Given the description of an element on the screen output the (x, y) to click on. 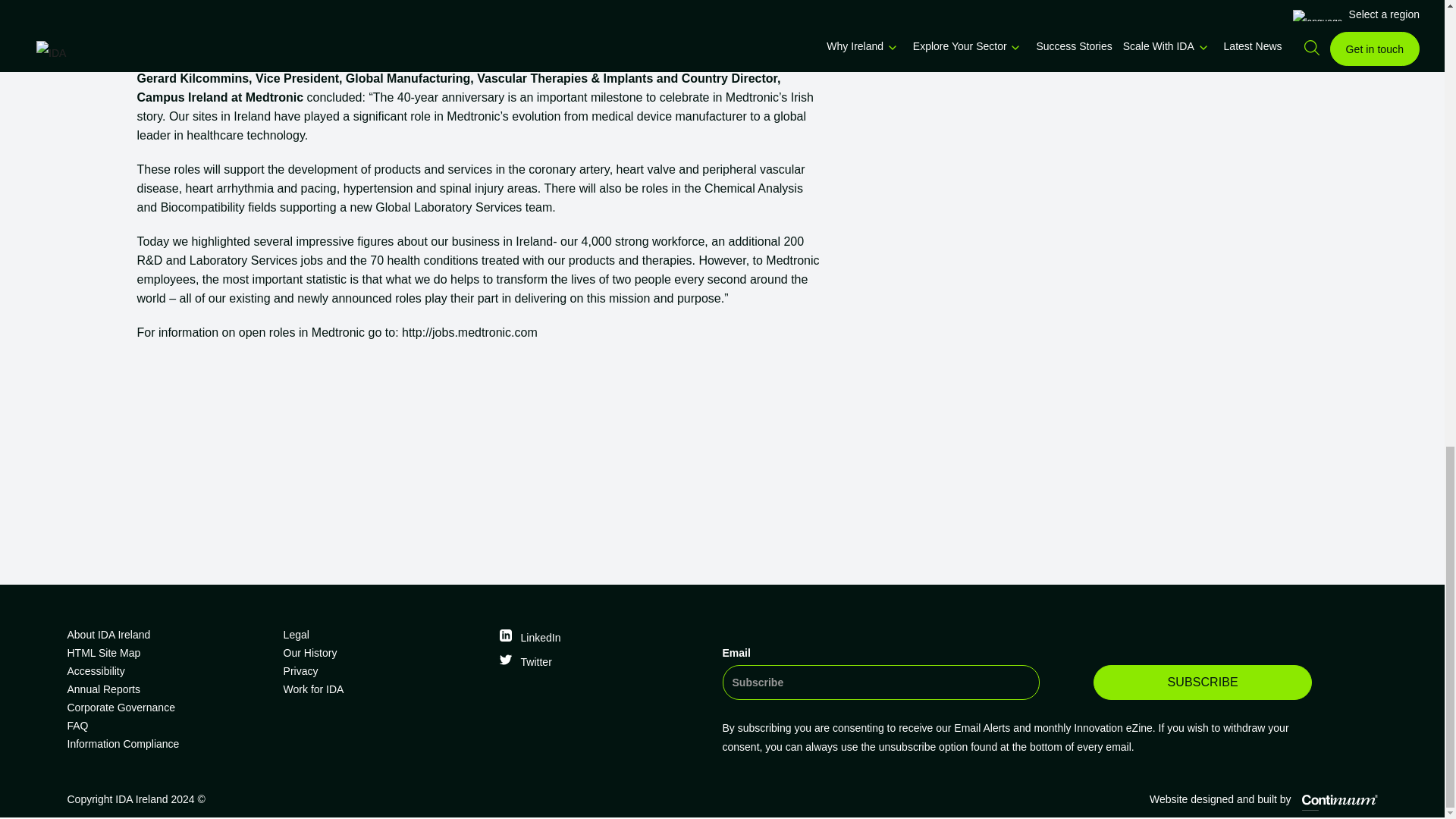
Legal (384, 634)
HTML Site Map (167, 652)
Work for IDA (384, 689)
Information Compliance (167, 743)
Annual Reports (167, 689)
Our History (384, 652)
FAQ (167, 725)
Corporate Governance (167, 707)
Accessibility (167, 670)
Subscribe (1202, 682)
Privacy (384, 670)
About IDA Ireland (167, 634)
